Given the description of an element on the screen output the (x, y) to click on. 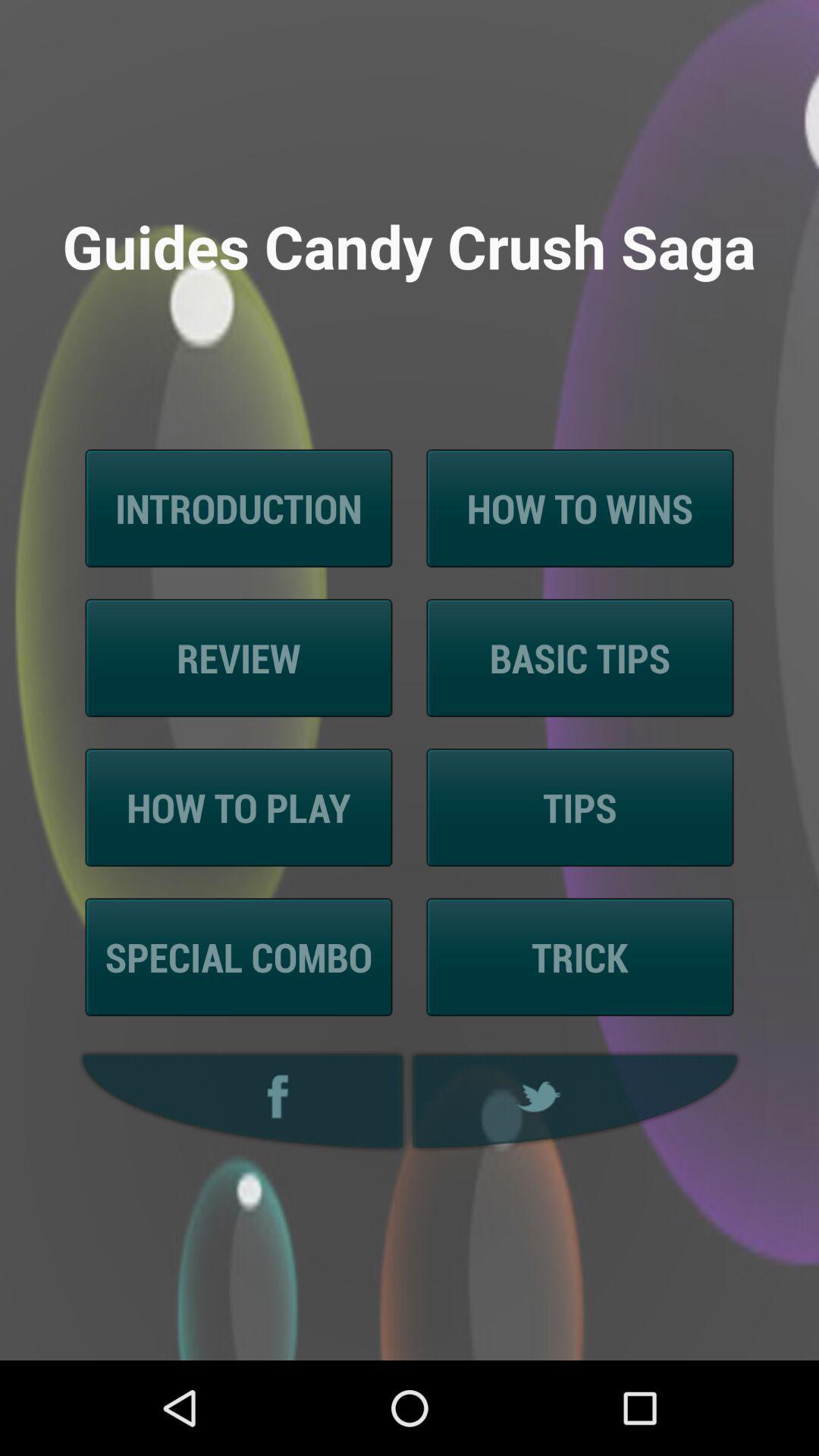
launch item below the introduction (238, 657)
